Given the description of an element on the screen output the (x, y) to click on. 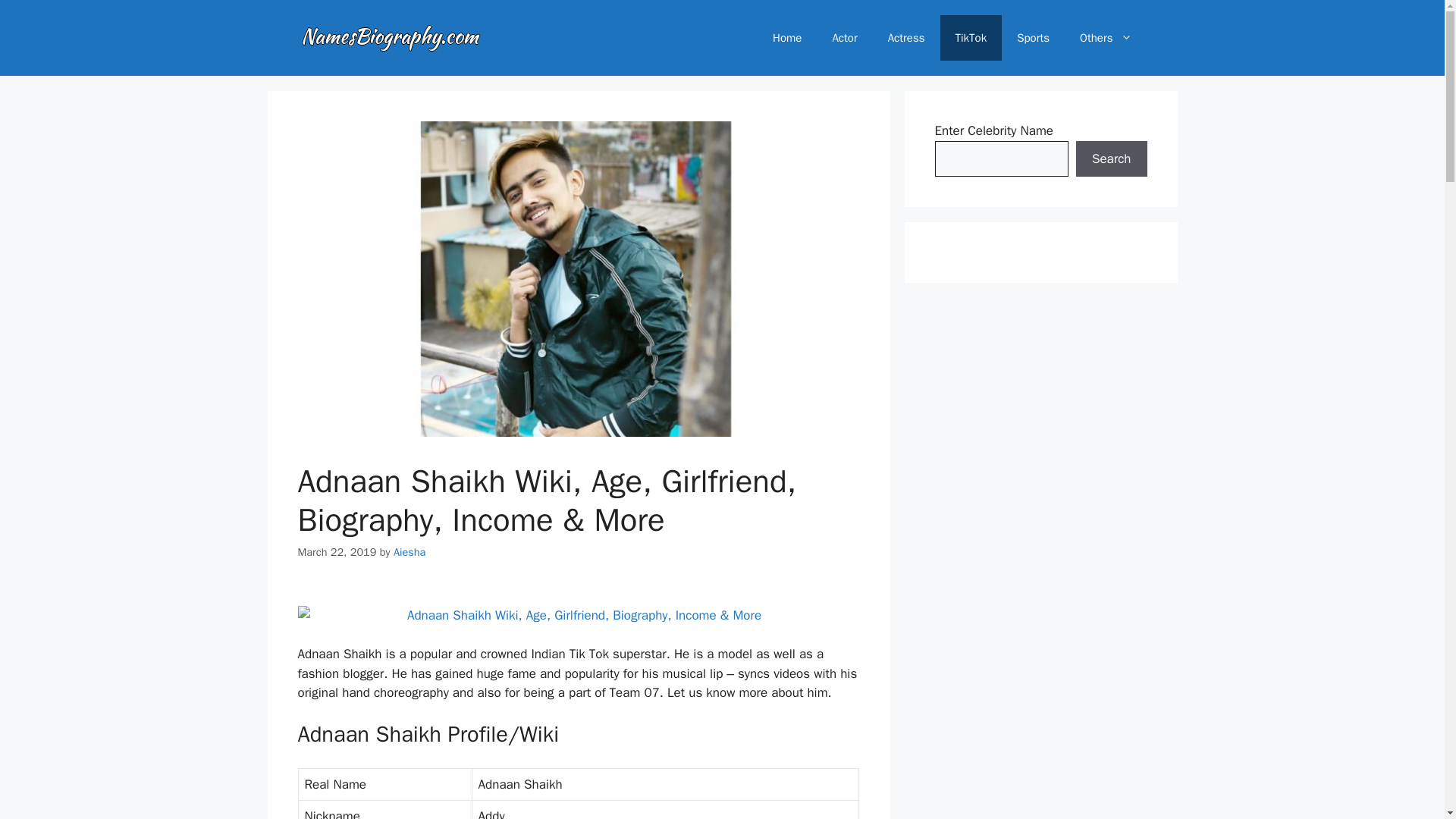
Home (786, 37)
Aiesha (409, 551)
TikTok (971, 37)
Sports (1032, 37)
Search (1111, 158)
View all posts by Aiesha (409, 551)
Others (1105, 37)
Actress (906, 37)
Actor (844, 37)
